Given the description of an element on the screen output the (x, y) to click on. 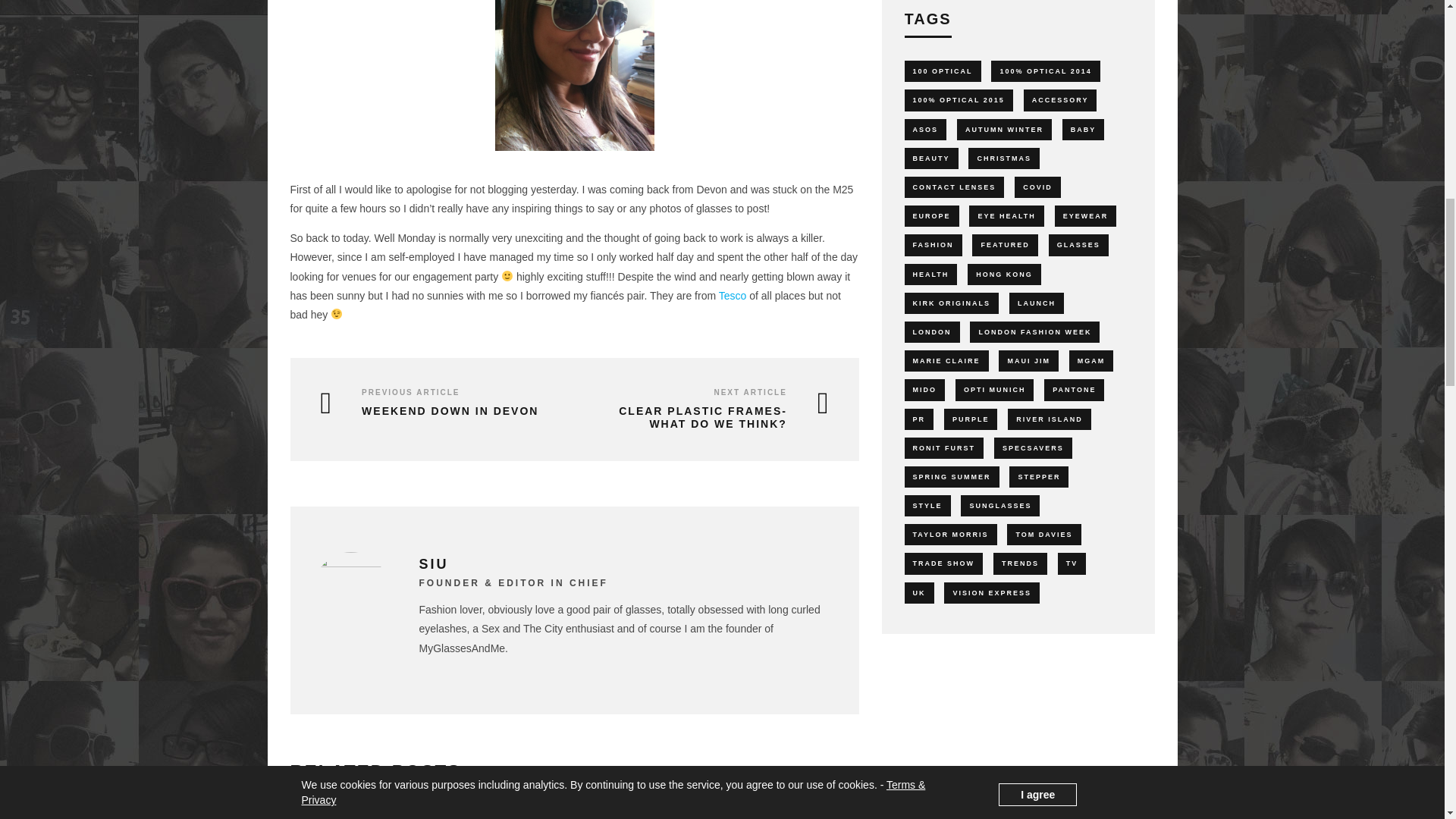
Sunglasses from Tesco  (574, 75)
Tesco (732, 295)
Sunglasses from Tesco  (575, 150)
